Given the description of an element on the screen output the (x, y) to click on. 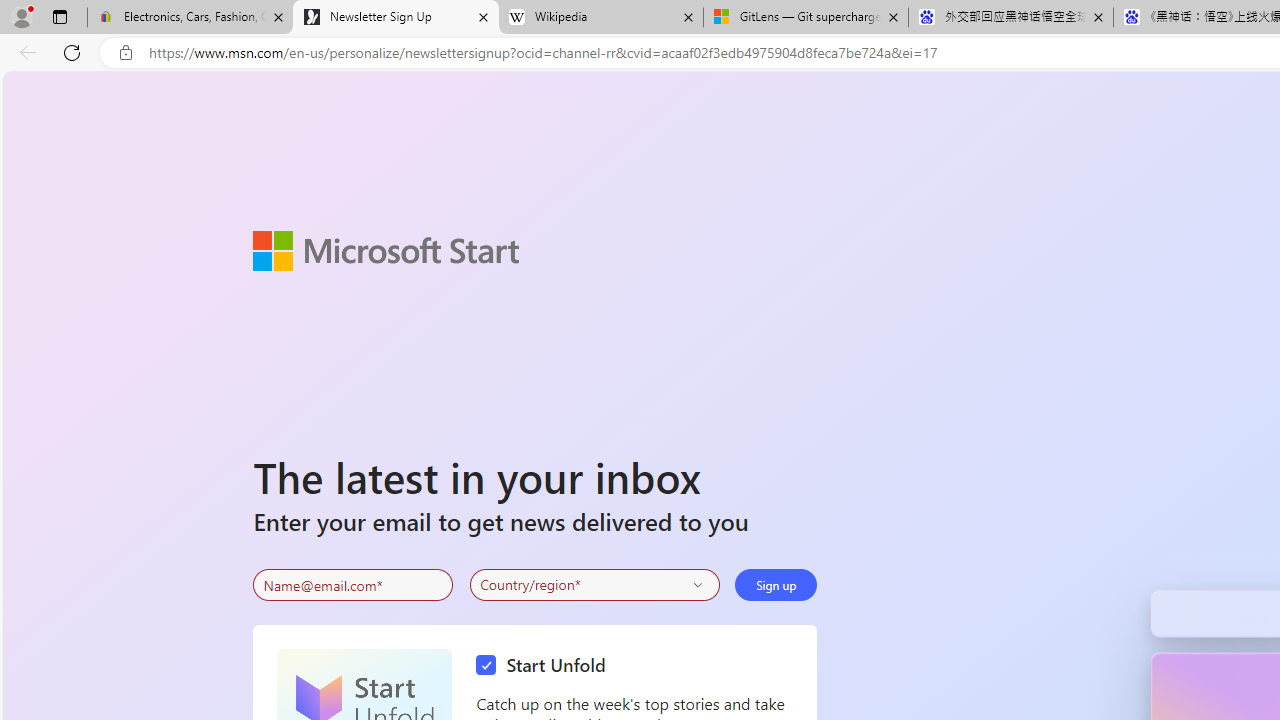
Newsletter Sign Up (395, 17)
